Given the description of an element on the screen output the (x, y) to click on. 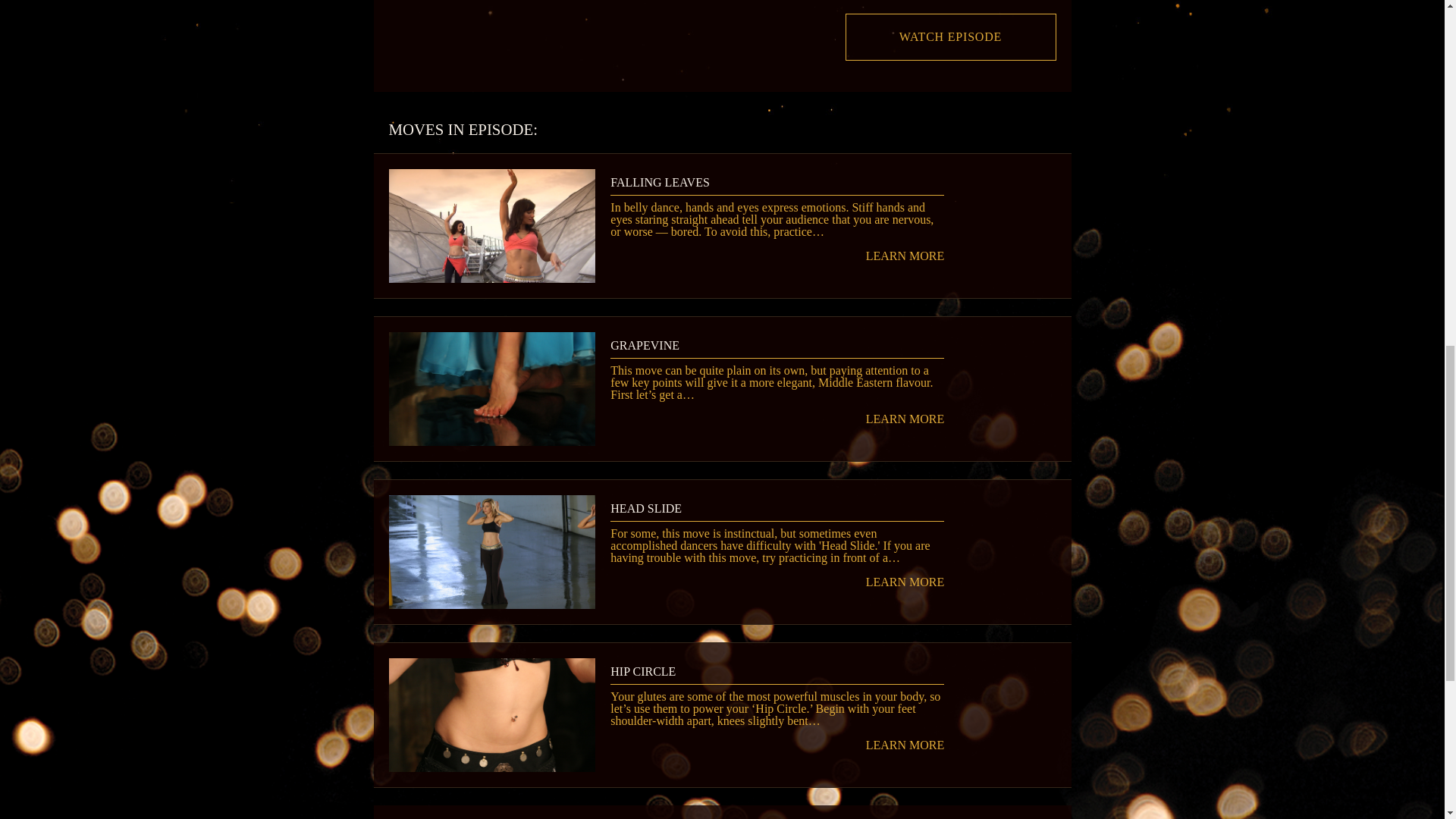
WATCH EPISODE (949, 37)
LEARN MORE (776, 582)
LEARN MORE (776, 745)
LEARN MORE (776, 419)
LEARN MORE (776, 256)
